Given the description of an element on the screen output the (x, y) to click on. 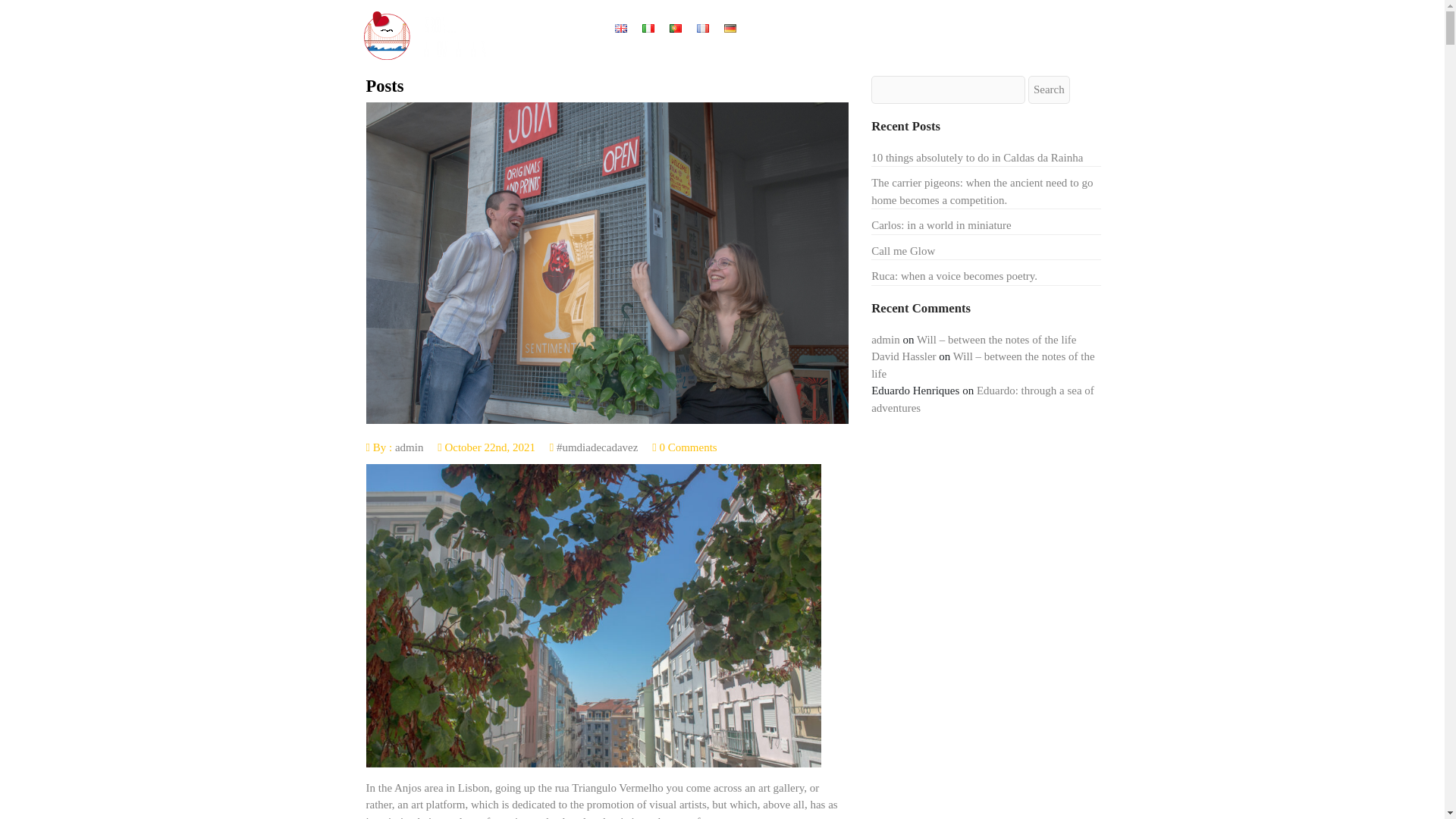
admin (884, 339)
David Hassler (903, 356)
English (620, 28)
Home (765, 28)
Carlos: in a world in miniature (940, 224)
About Me (817, 28)
Our tours (877, 28)
10 things absolutely to do in Caldas da Rainha (976, 157)
Gallery (1020, 28)
